Given the description of an element on the screen output the (x, y) to click on. 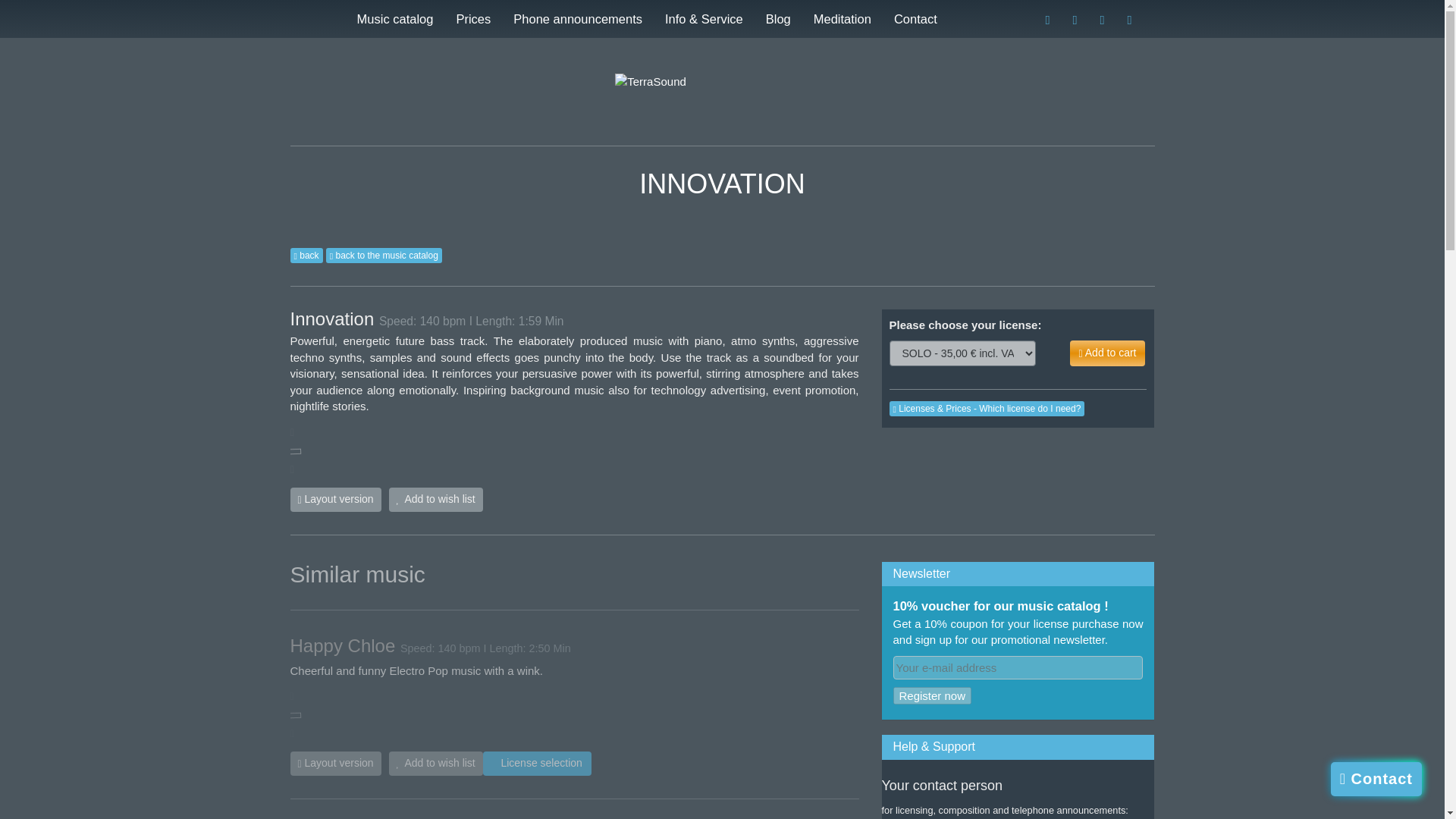
back to the previous page (305, 255)
We are looking forward to your inquiry! (915, 18)
back (305, 255)
Blog (778, 18)
Add to cart (1107, 353)
Contact (915, 18)
back to the music catalog (384, 255)
Prices (473, 18)
